Given the description of an element on the screen output the (x, y) to click on. 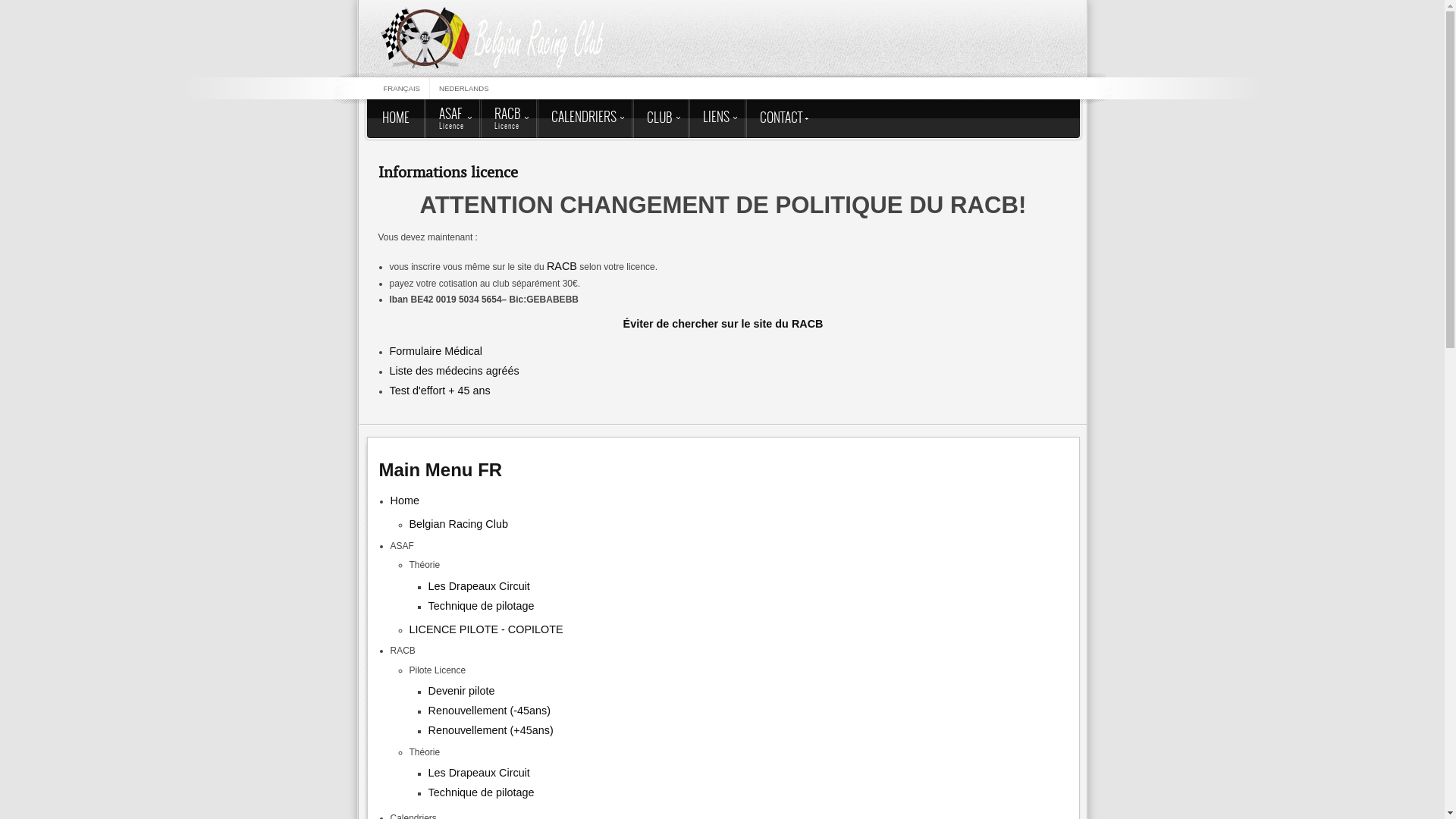
Devenir pilote Element type: text (460, 690)
LICENCE PILOTE - COPILOTE Element type: text (486, 629)
Renouvellement (+45ans) Element type: text (489, 730)
Technique de pilotage Element type: text (480, 792)
Renouvellement (-45ans) Element type: text (488, 710)
Belgian Racing Club Element type: text (458, 523)
Les Drapeaux Circuit Element type: text (478, 772)
NEDERLANDS Element type: text (463, 88)
Home Element type: text (403, 500)
Technique de pilotage Element type: text (480, 605)
RACB Element type: text (561, 265)
CONTACT + Element type: text (783, 118)
CLUB Element type: text (658, 118)
Test d'effort + 45 ans Element type: text (439, 390)
HOME Element type: text (395, 118)
Les Drapeaux Circuit Element type: text (478, 586)
